Given the description of an element on the screen output the (x, y) to click on. 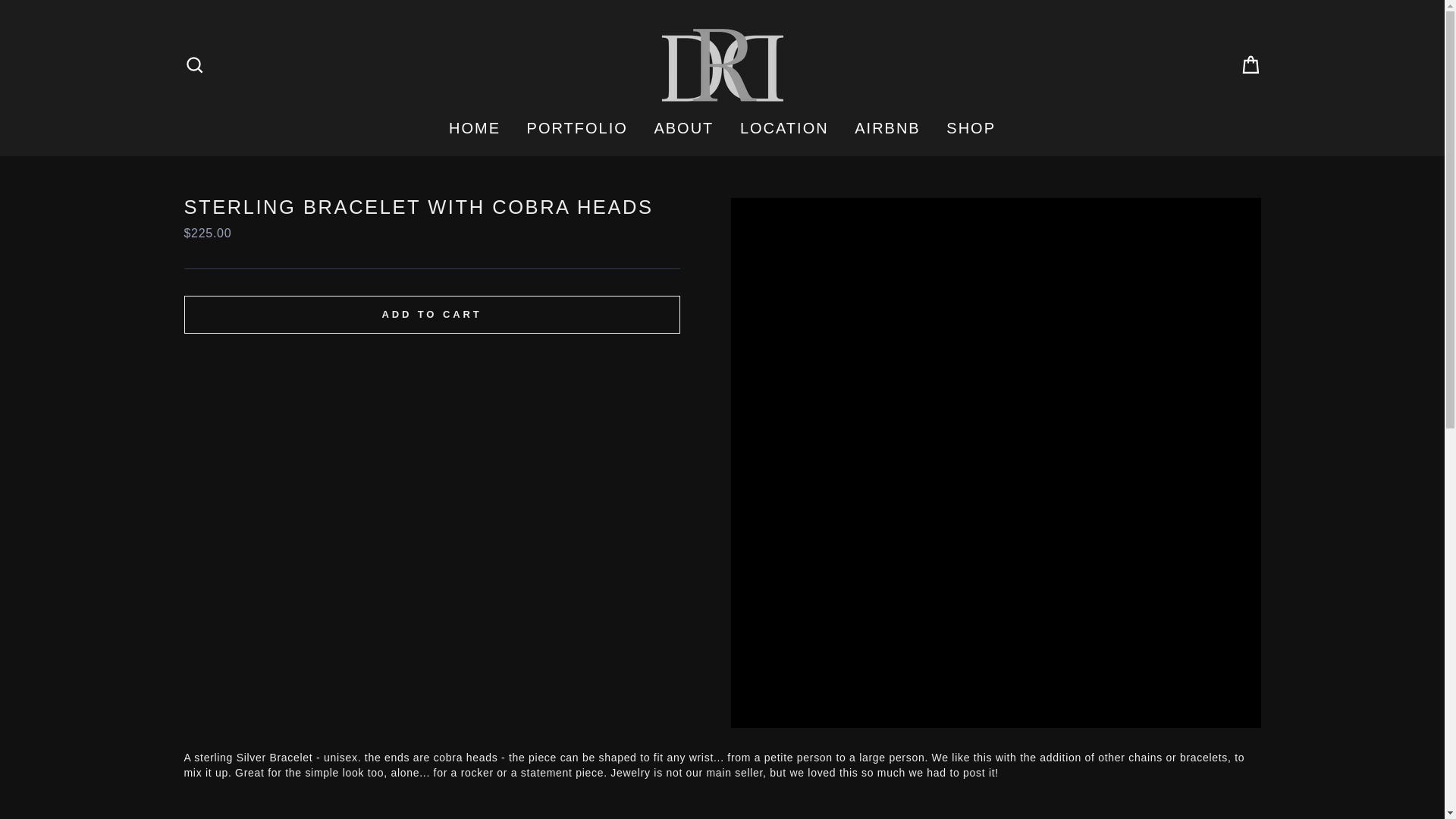
CART (1249, 64)
HOME (475, 127)
ABOUT (683, 127)
LOCATION (784, 127)
AIRBNB (887, 127)
SHOP (970, 127)
PORTFOLIO (577, 127)
SEARCH (194, 64)
ADD TO CART (431, 314)
